Given the description of an element on the screen output the (x, y) to click on. 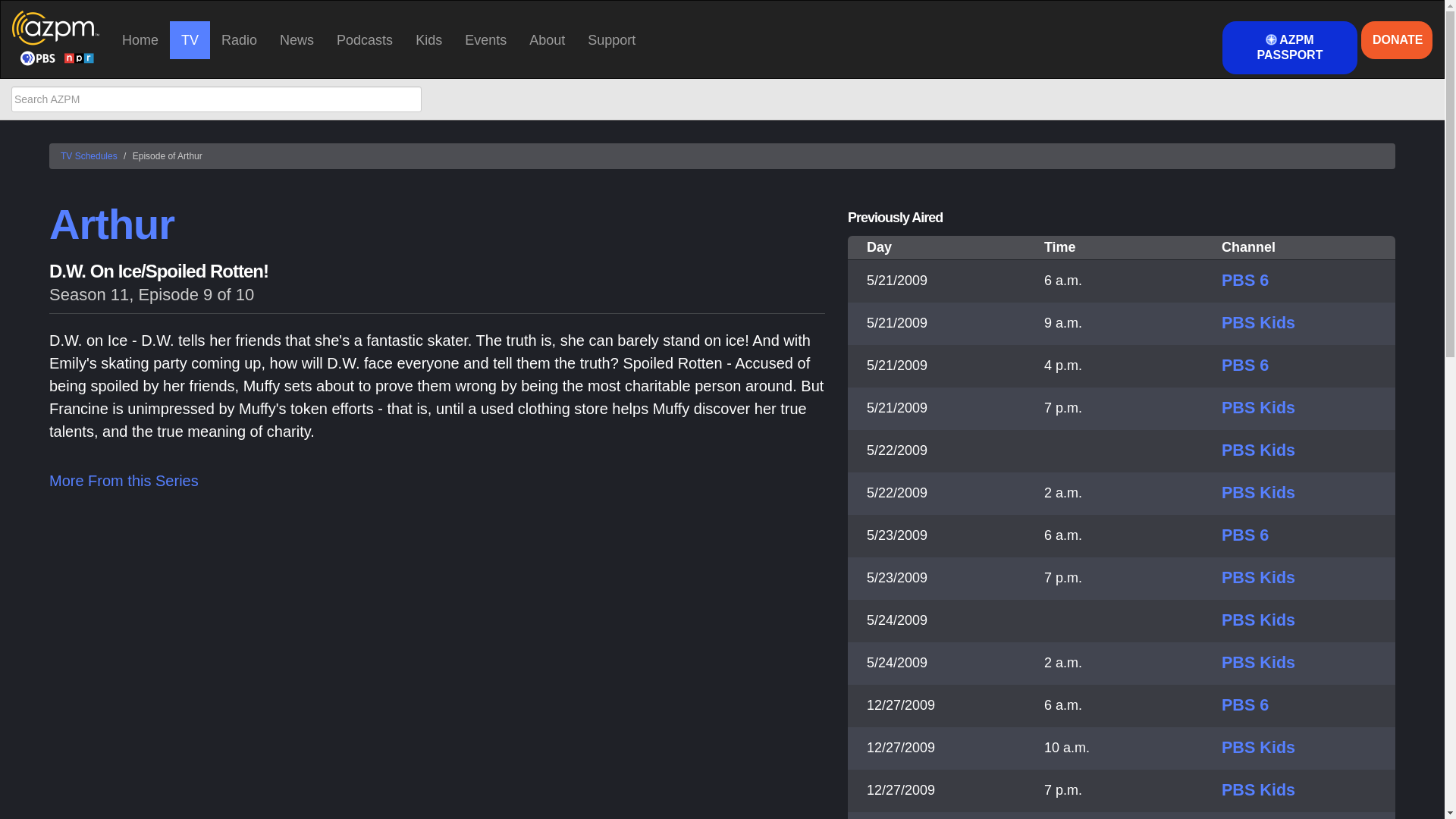
Kids (428, 39)
News (295, 39)
Events (485, 39)
TV (189, 39)
About (547, 39)
Home (140, 39)
Podcasts (364, 39)
Radio (238, 39)
